Given the description of an element on the screen output the (x, y) to click on. 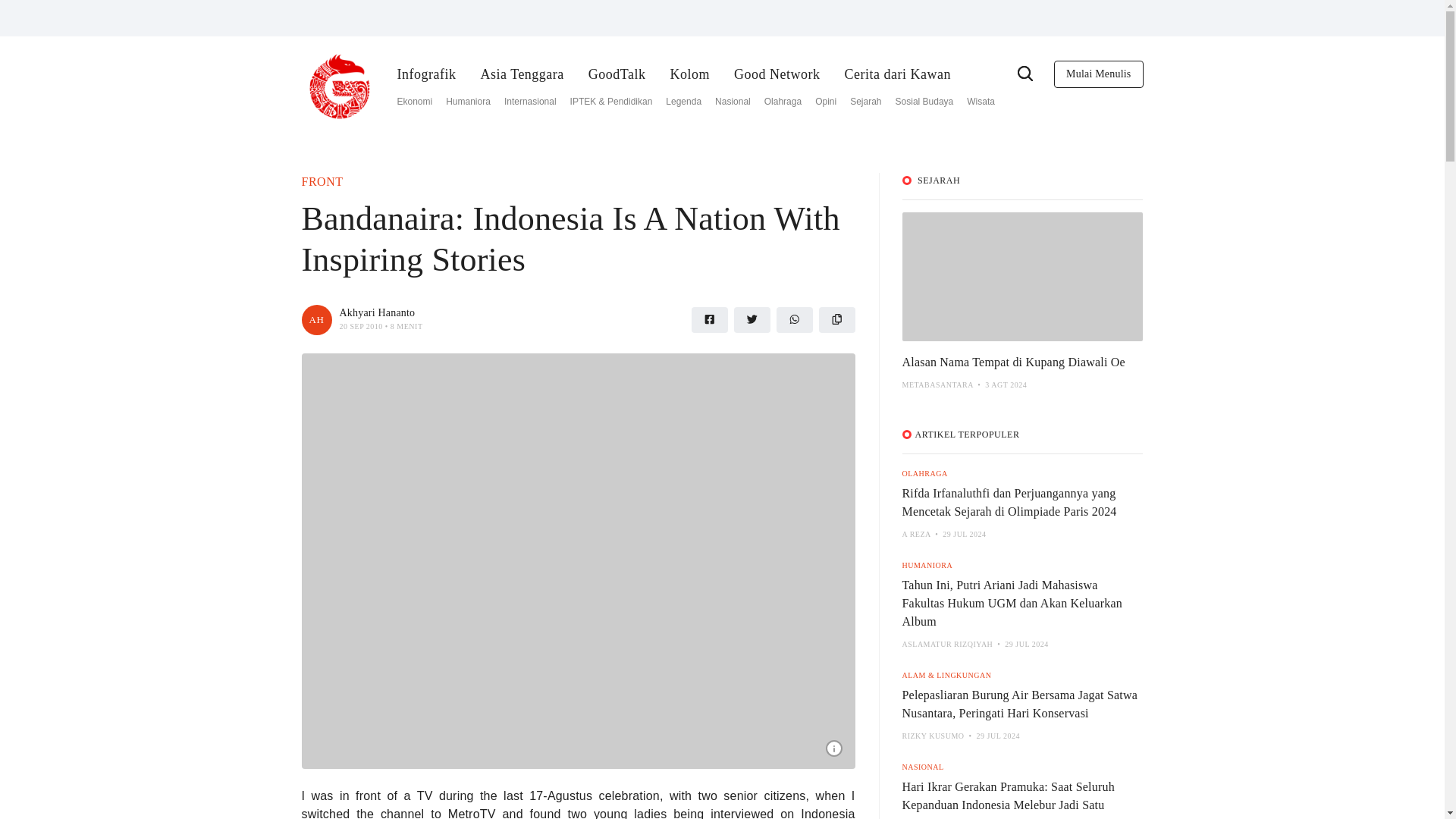
Nasional (732, 101)
Jelajah (1024, 72)
Ekonomi (414, 101)
Wisata (980, 101)
Infografik (427, 73)
A REZA (916, 533)
SEJARAH (938, 180)
Akhyari Hananto (376, 312)
Internasional (529, 101)
